Given the description of an element on the screen output the (x, y) to click on. 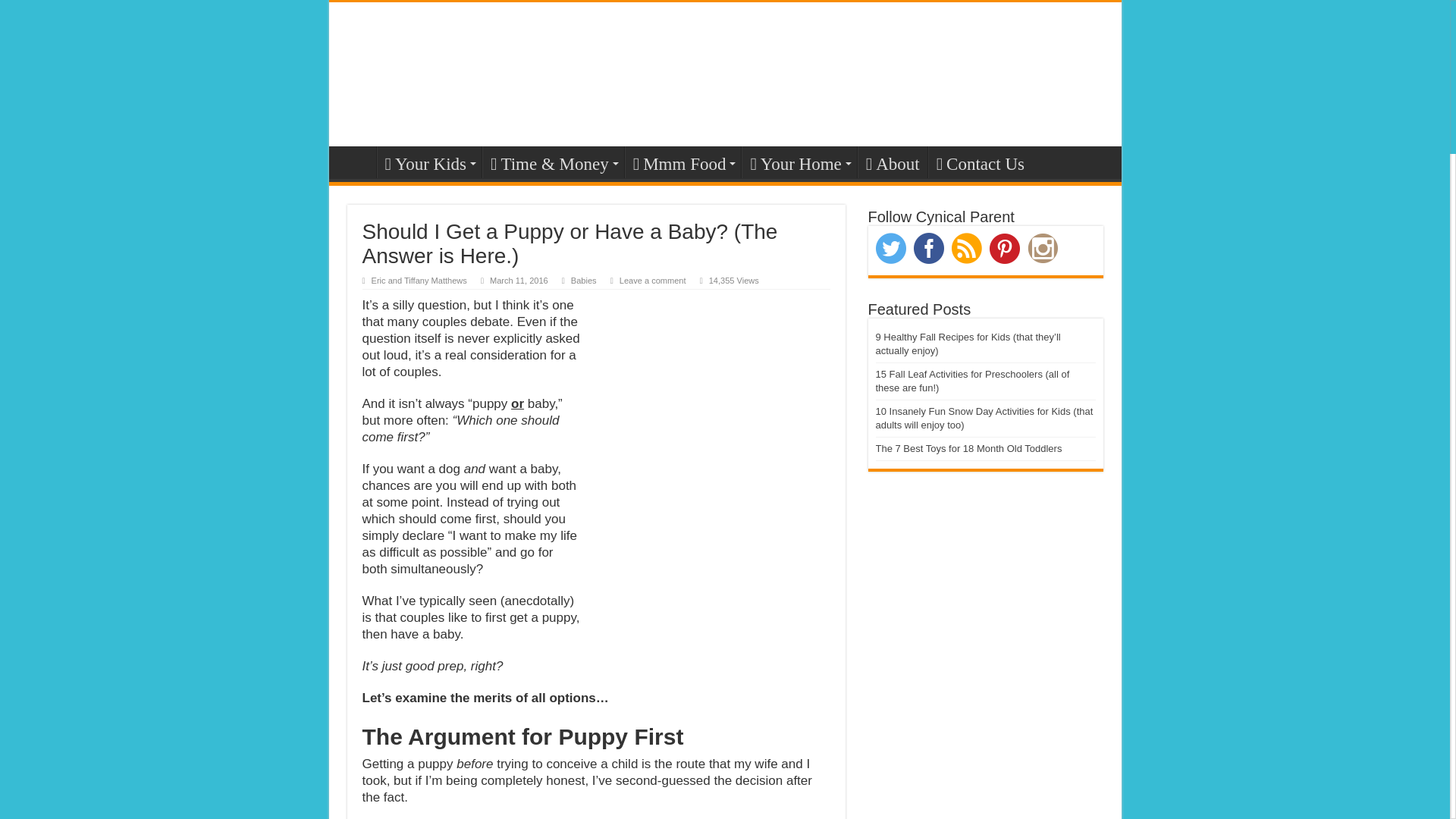
Home (355, 162)
Eric and Tiffany Matthews (419, 280)
Your Home (798, 162)
Babies (583, 280)
Leave a comment (652, 280)
About (892, 162)
Contact Us (980, 162)
Cynical Parent (724, 71)
Your Kids (428, 162)
Mmm Food (682, 162)
